Given the description of an element on the screen output the (x, y) to click on. 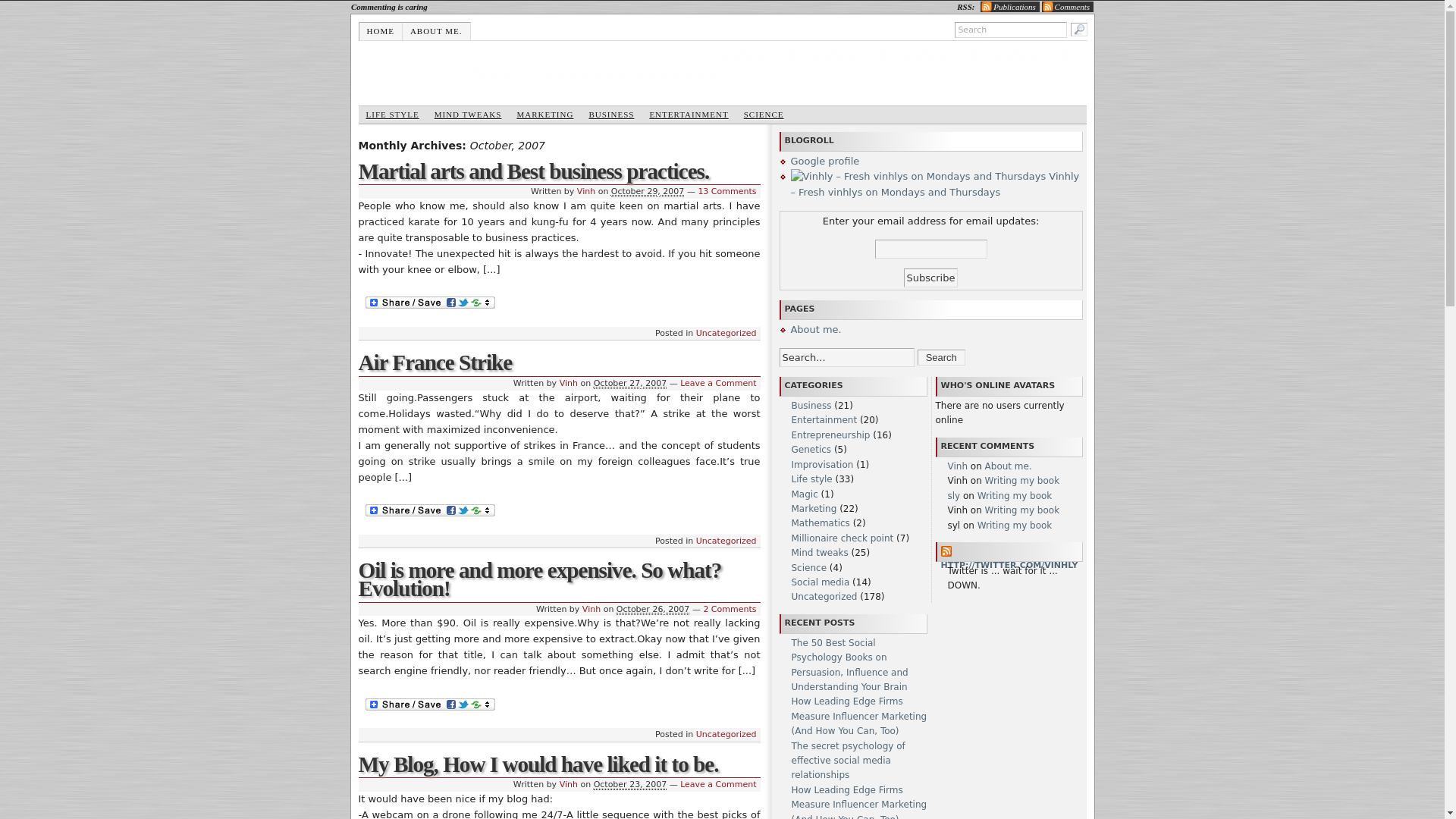
LIFE STYLE (392, 114)
About me. (436, 30)
Vinh (590, 609)
Home (381, 30)
View all posts filed under Science (764, 114)
13 Comments (726, 191)
Subscribe (931, 277)
Martial arts and Best business practices. (533, 170)
Search... (846, 357)
Vinh (568, 784)
